Given the description of an element on the screen output the (x, y) to click on. 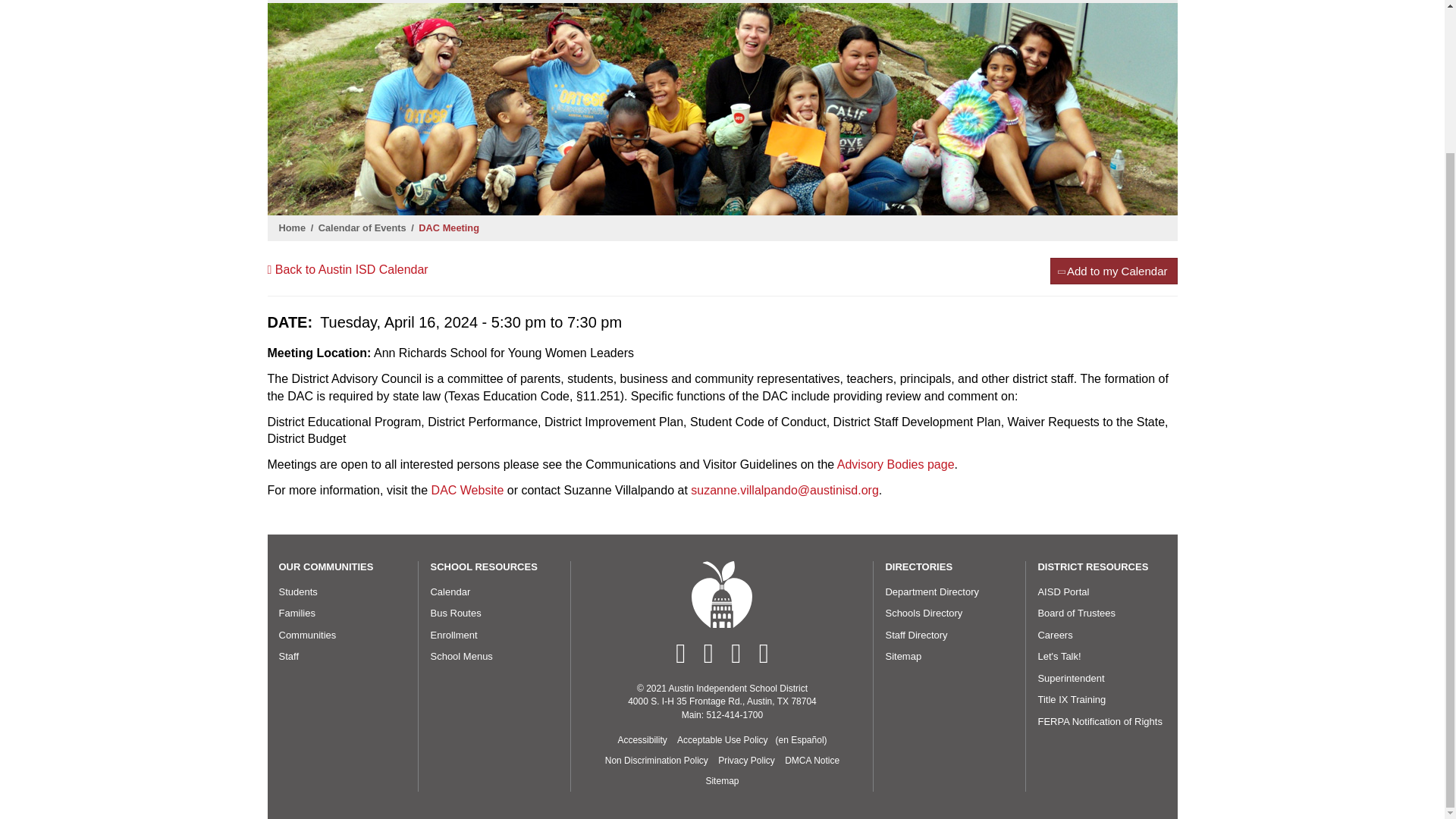
Austin ISD Website Privacy Policy (746, 761)
Download PDF (721, 740)
Download PDF Acceptable Use Policy (801, 740)
PDF File (656, 761)
